Given the description of an element on the screen output the (x, y) to click on. 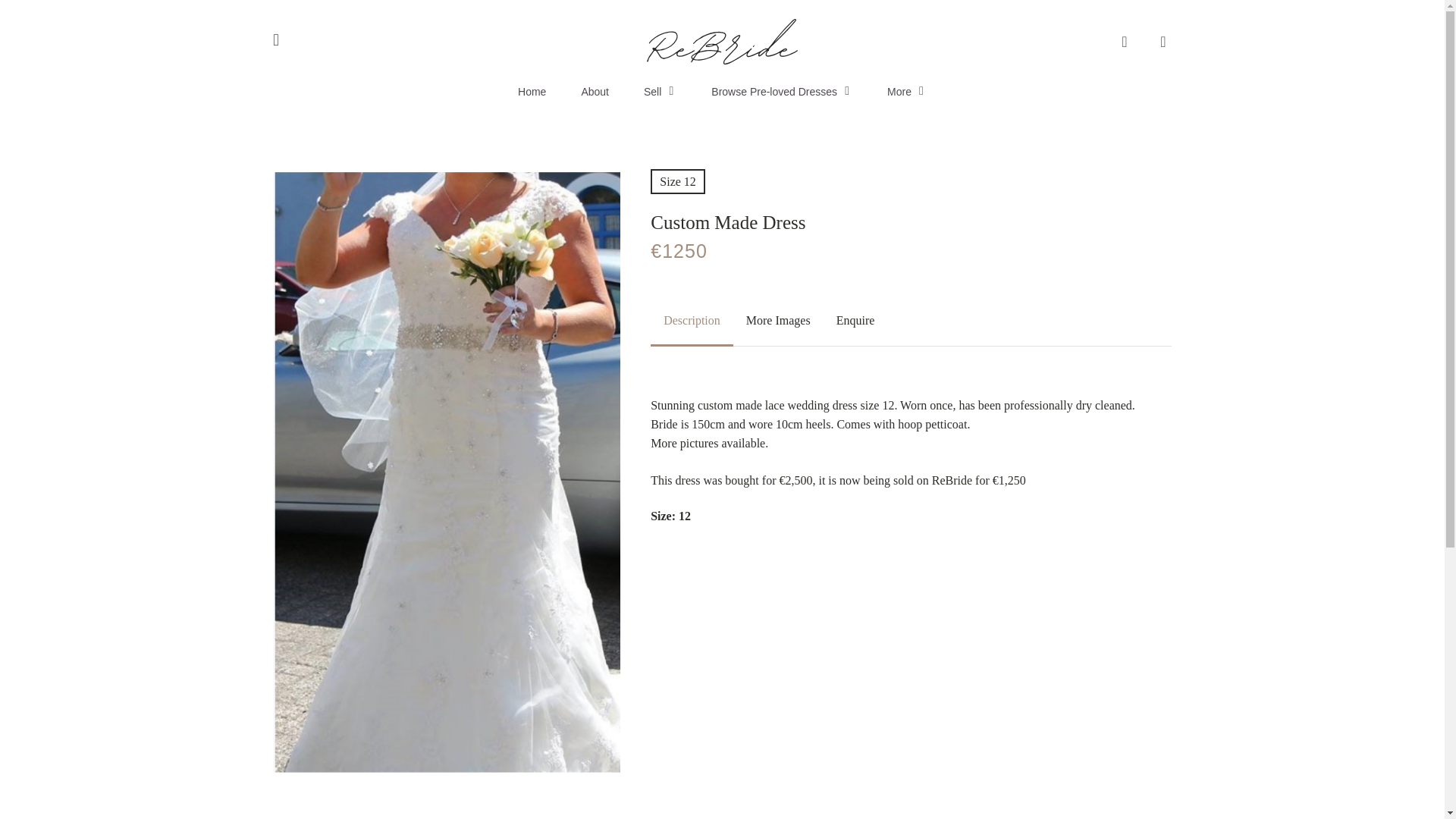
About (594, 91)
More (906, 91)
More Images (778, 320)
Size 12 (677, 181)
Enquire (856, 320)
Browse Pre-loved Dresses (781, 91)
Sell (660, 91)
search (1124, 41)
Description (691, 320)
Home (531, 91)
